Given the description of an element on the screen output the (x, y) to click on. 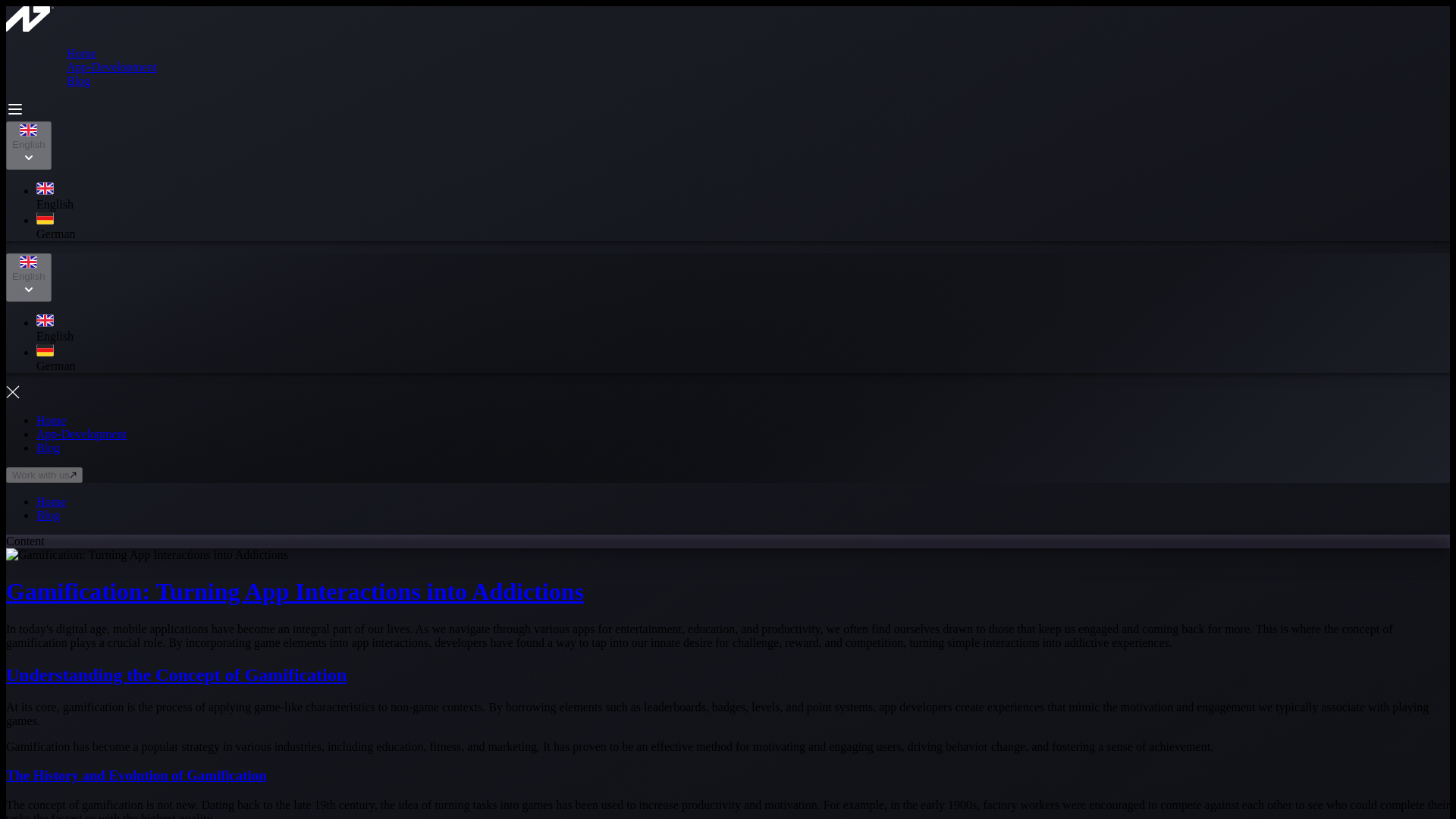
App-Development (81, 433)
English (27, 145)
Home (50, 420)
Blog (47, 447)
Work with us (43, 474)
App-Development (111, 66)
Blog (47, 514)
English (27, 277)
Understanding the Concept of Gamification (175, 674)
Work with us (43, 473)
